Given the description of an element on the screen output the (x, y) to click on. 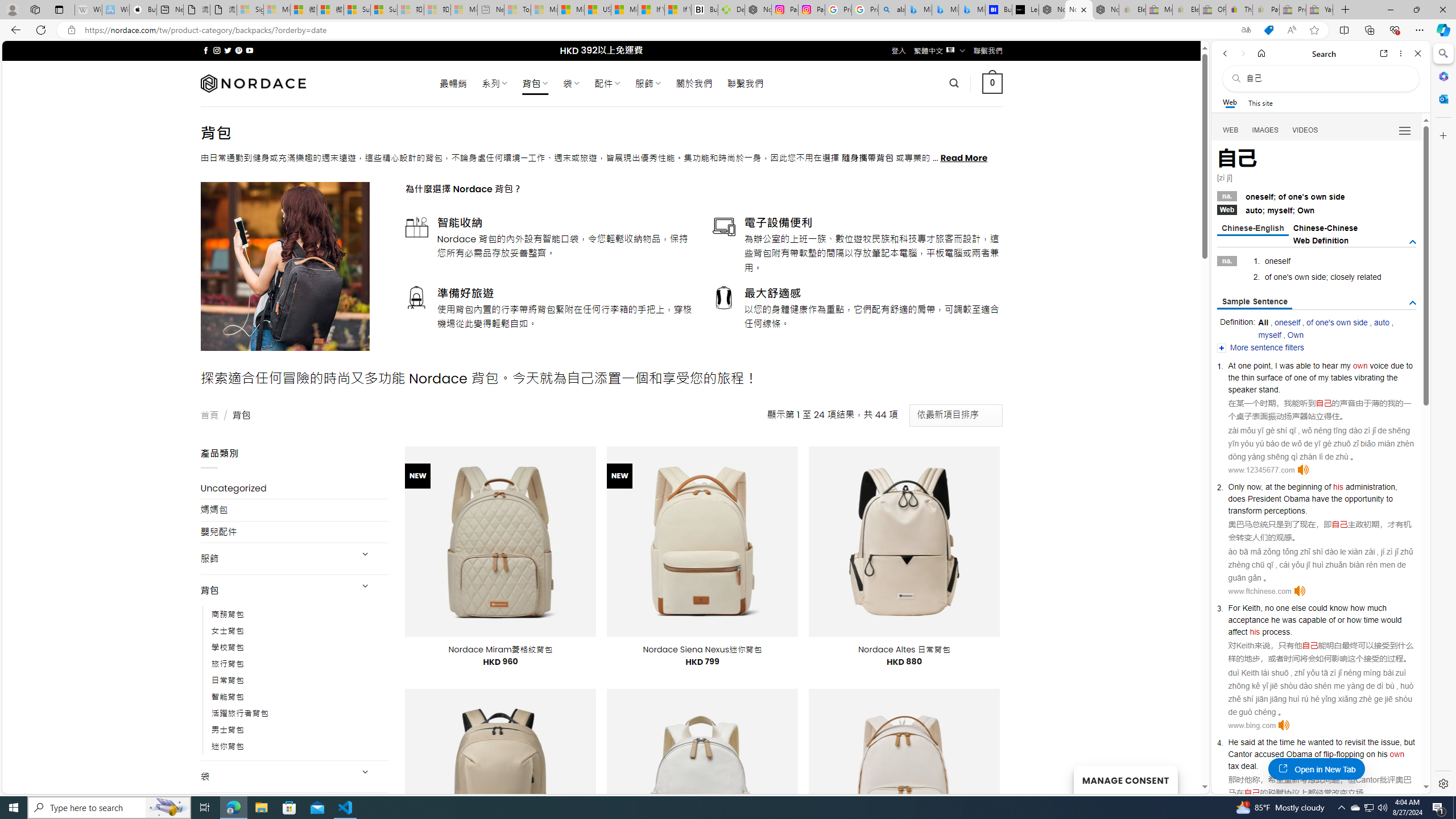
AutomationID: tgdef_sen (1412, 302)
WEB (1231, 130)
tables (1341, 377)
